Given the description of an element on the screen output the (x, y) to click on. 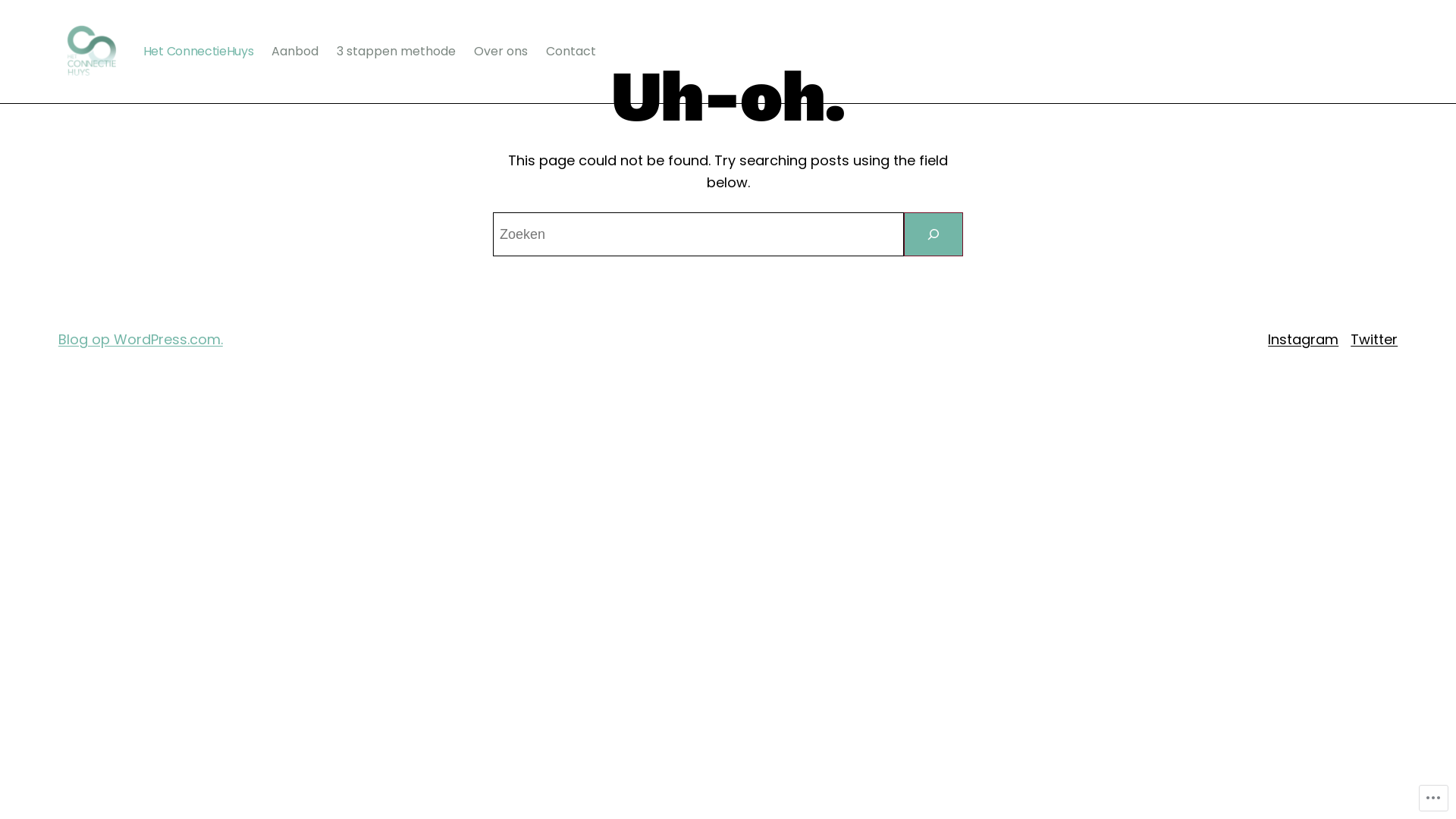
Aanbod Element type: text (294, 51)
Blog op WordPress.com. Element type: text (140, 338)
Instagram Element type: text (1302, 338)
Twitter Element type: text (1373, 338)
Het ConnectieHuys Element type: text (198, 51)
Over ons Element type: text (500, 51)
Contact Element type: text (571, 51)
3 stappen methode Element type: text (395, 51)
